Given the description of an element on the screen output the (x, y) to click on. 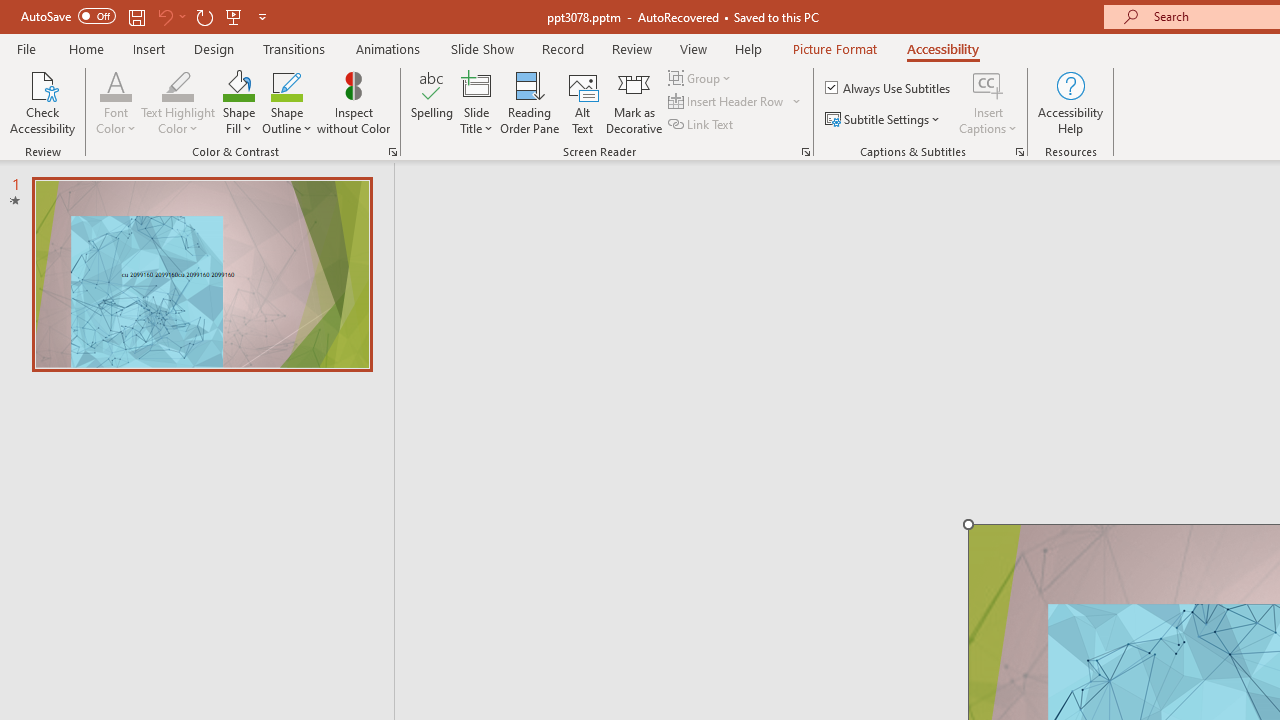
Text Highlight Color (178, 84)
Insert Captions (988, 84)
Subtitle Settings (884, 119)
Insert Captions (988, 102)
Shape Fill Dark Green, Accent 2 (238, 84)
Reading Order Pane (529, 102)
Font Color (116, 84)
Shape Outline Green, Accent 1 (286, 84)
